Given the description of an element on the screen output the (x, y) to click on. 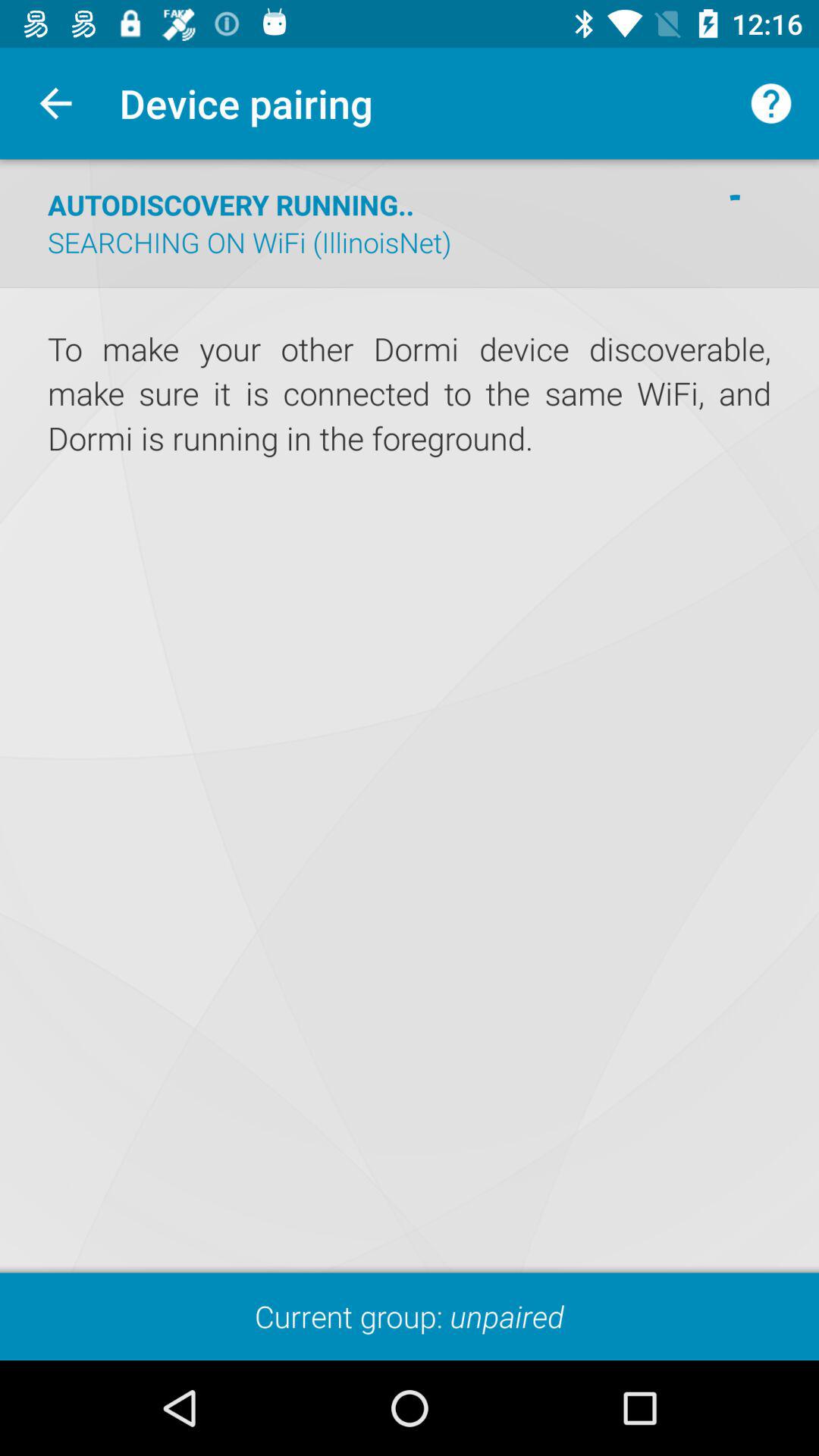
launch the item below the autodiscovery running.. item (249, 242)
